Given the description of an element on the screen output the (x, y) to click on. 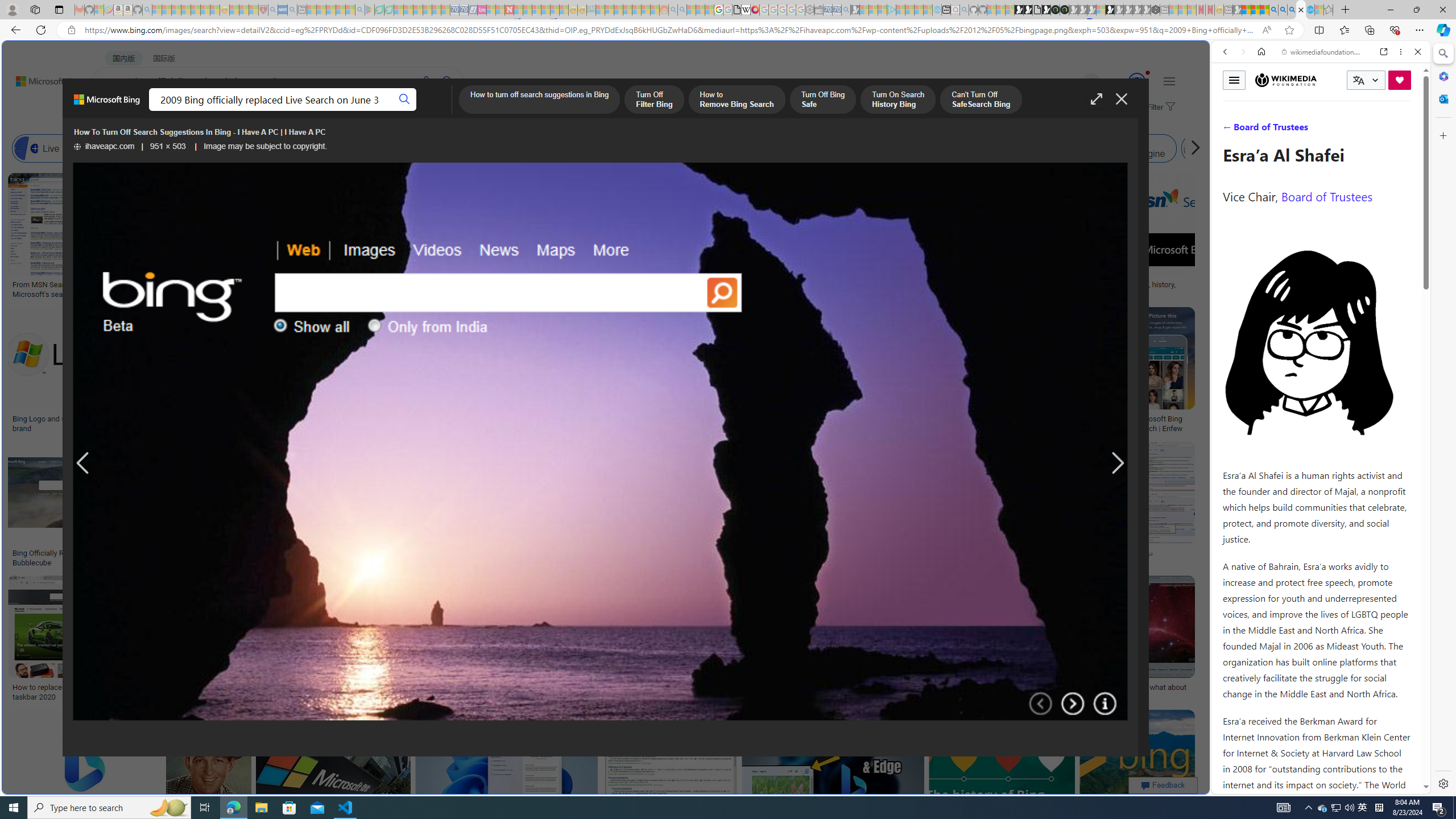
Bing Picture Search Engine (224, 148)
VIDEOS (1300, 130)
Bing Real Estate - Home sales and rental listings - Sleeping (846, 9)
Https Bing Search Q MSN (1195, 148)
microsoft bing (991, 419)
Search or enter web address (922, 108)
wikimediafoundation.org (1323, 51)
utah sues federal government - Search - Sleeping (291, 9)
Owner of Bing Search Engine (1115, 148)
